Given the description of an element on the screen output the (x, y) to click on. 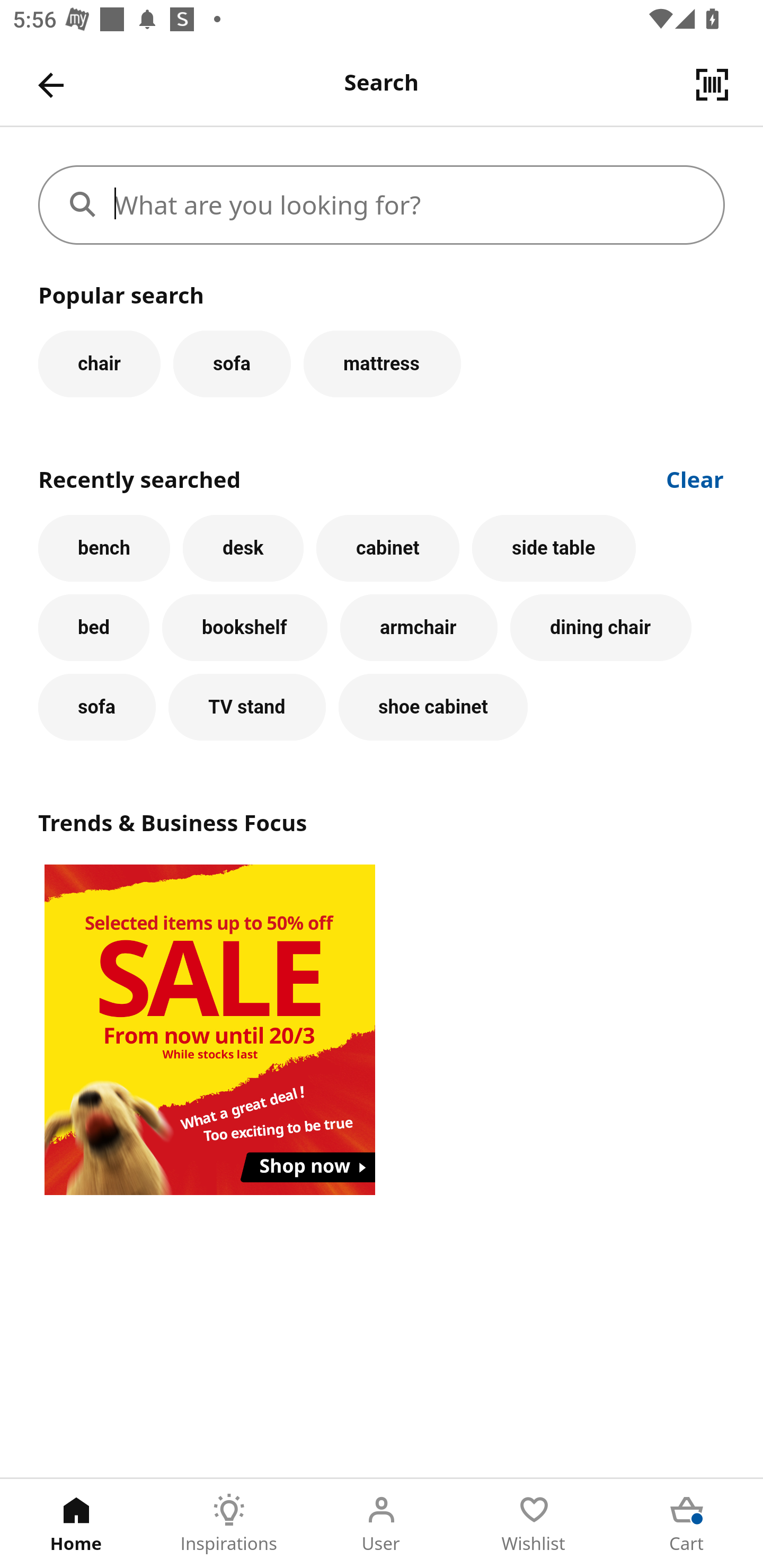
chair (99, 363)
sofa (231, 363)
mattress (381, 363)
Clear (695, 477)
bench (104, 547)
desk (243, 547)
cabinet (387, 547)
side table (553, 547)
bed (93, 627)
bookshelf (244, 627)
armchair (418, 627)
dining chair (600, 627)
sofa (96, 707)
TV stand (246, 707)
shoe cabinet (432, 707)
Home
Tab 1 of 5 (76, 1522)
Inspirations
Tab 2 of 5 (228, 1522)
User
Tab 3 of 5 (381, 1522)
Wishlist
Tab 4 of 5 (533, 1522)
Cart
Tab 5 of 5 (686, 1522)
